Given the description of an element on the screen output the (x, y) to click on. 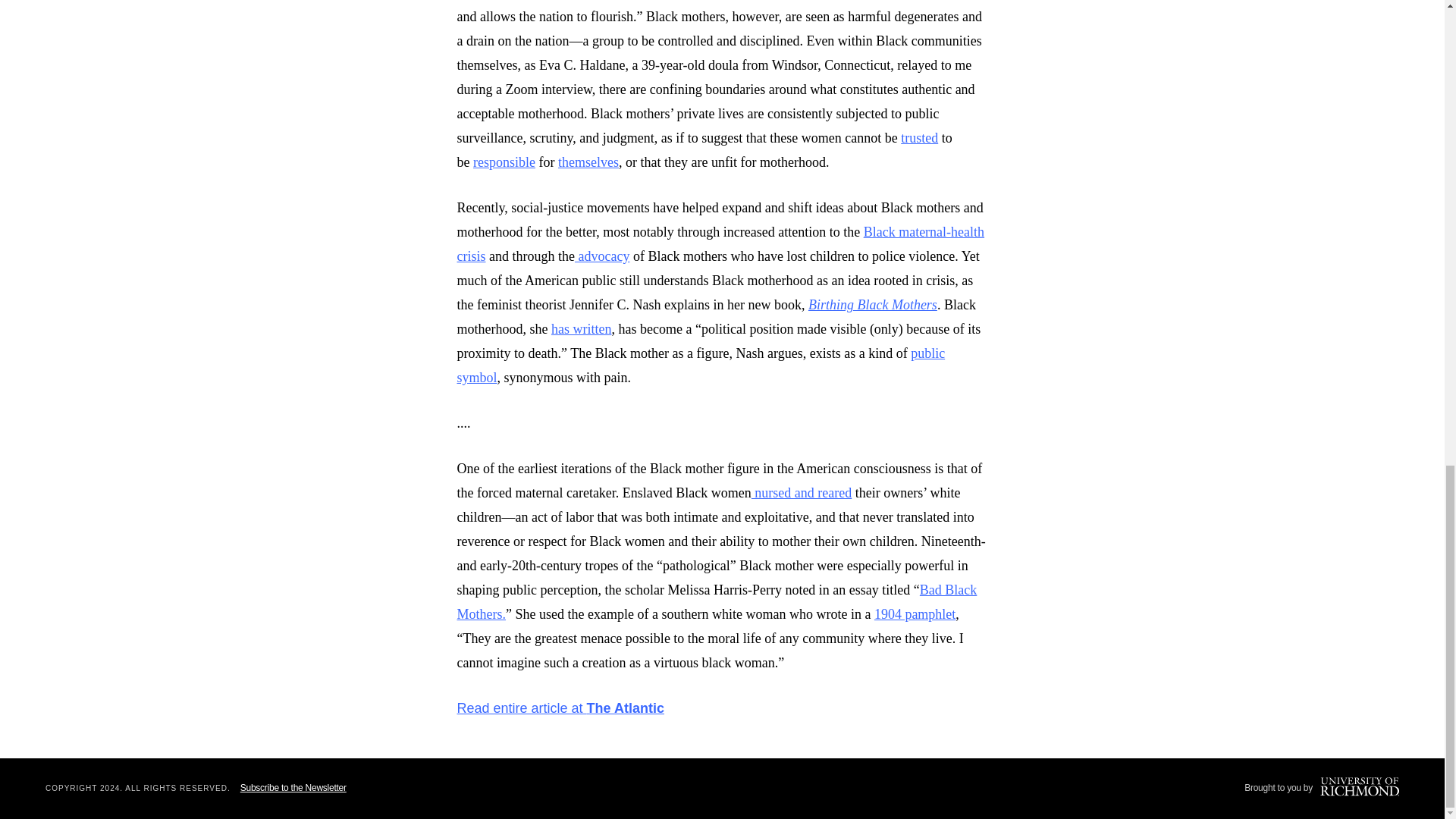
 nursed and reared (801, 492)
Black maternal-health crisis (720, 243)
Subscribe to the Newsletter (293, 787)
trusted (919, 137)
Birthing Black Mothers (872, 304)
Bad Black Mothers. (716, 601)
Read entire article at The Atlantic (560, 708)
themselves (587, 161)
responsible (504, 161)
 advocacy (601, 255)
1904 pamphlet (915, 613)
public symbol (700, 364)
has written (581, 328)
